Given the description of an element on the screen output the (x, y) to click on. 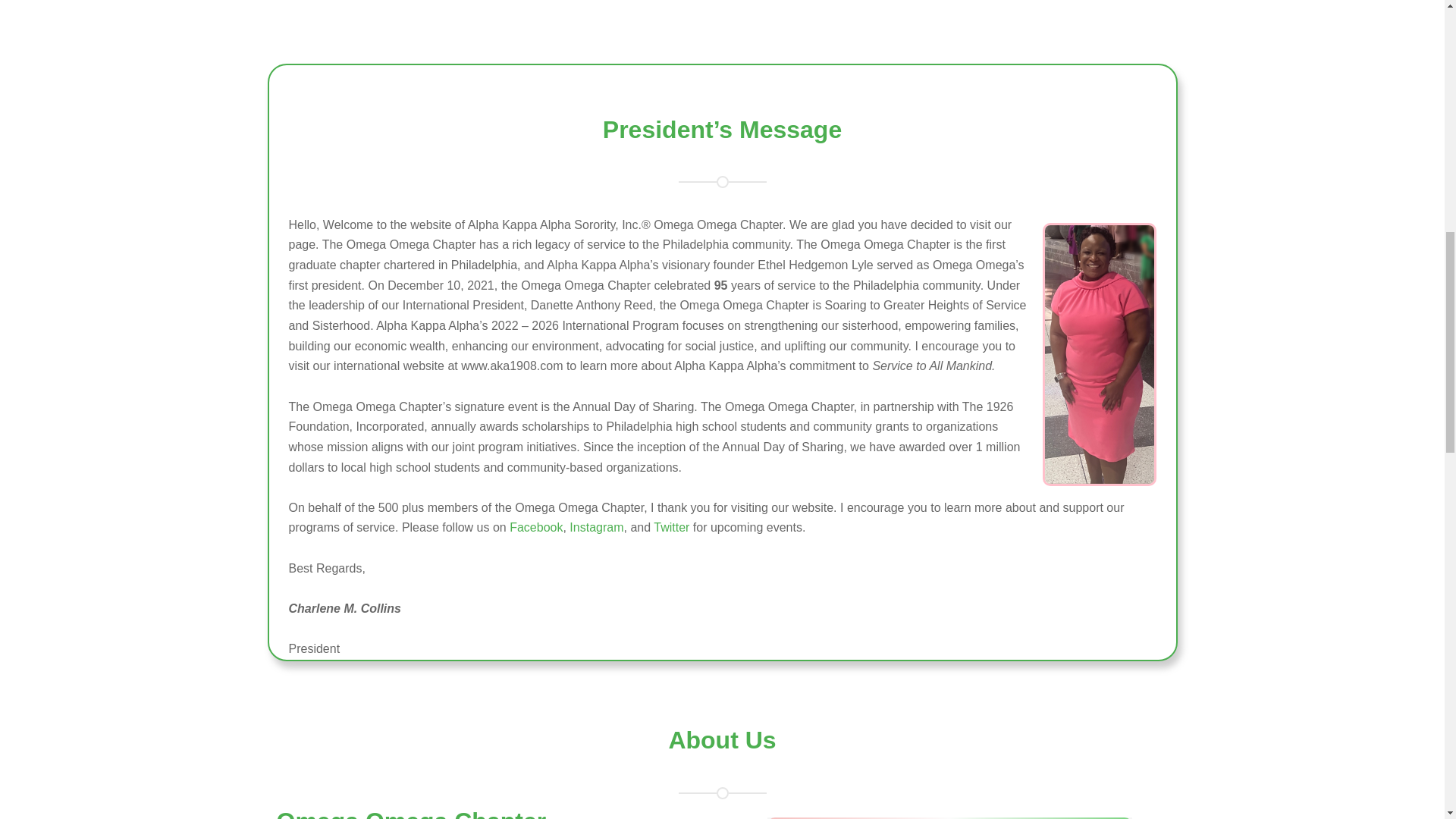
Instagram (596, 526)
Facebook (535, 526)
Twitter (670, 526)
